Given the description of an element on the screen output the (x, y) to click on. 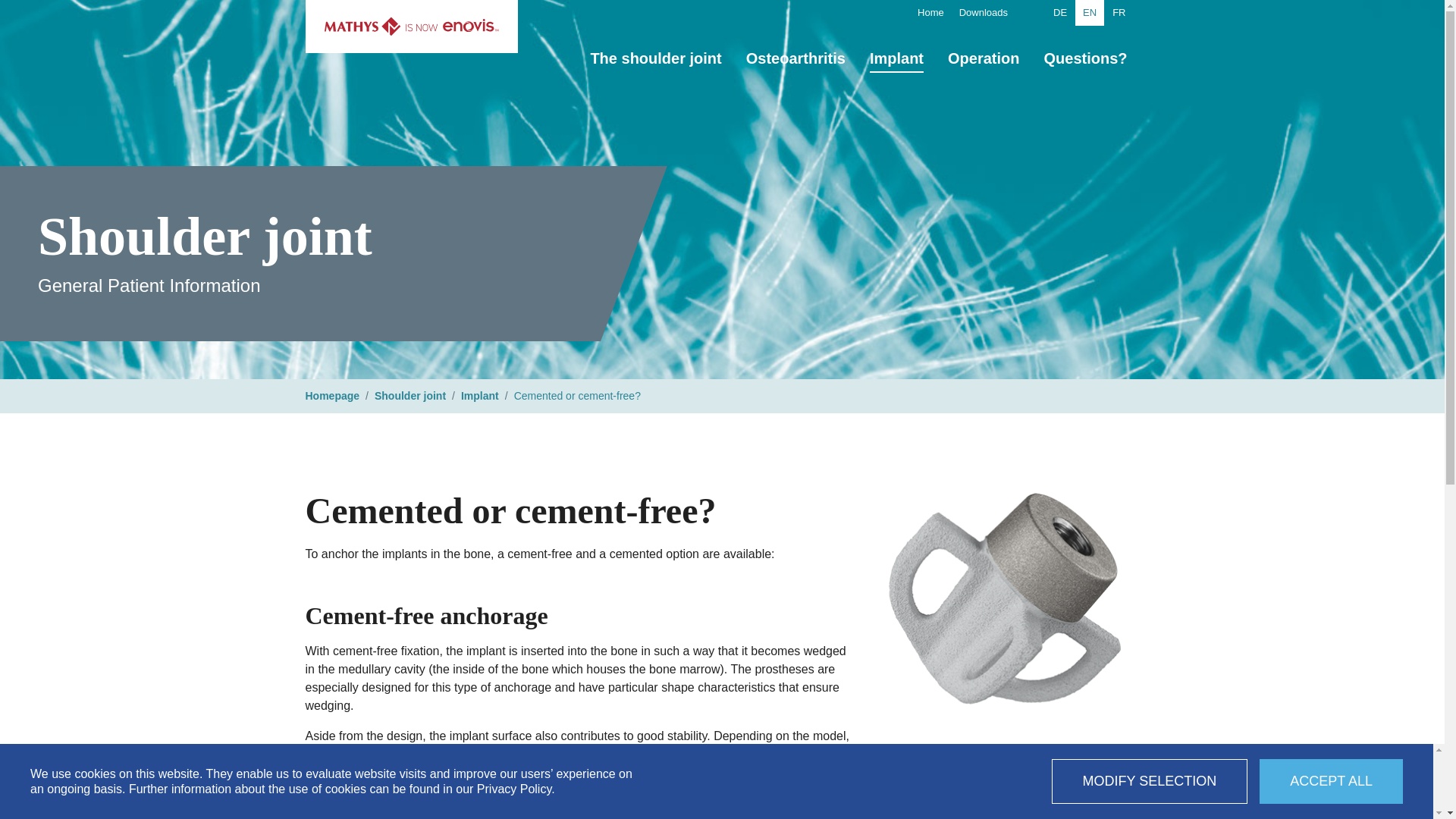
The shoulder joint (655, 58)
Questions? (1084, 58)
Shoulder joint (409, 395)
Implant (896, 58)
Home (930, 12)
French (1118, 12)
DE (1059, 12)
Osteoarthritis (795, 58)
Deutsch (1059, 12)
English (1089, 12)
